Given the description of an element on the screen output the (x, y) to click on. 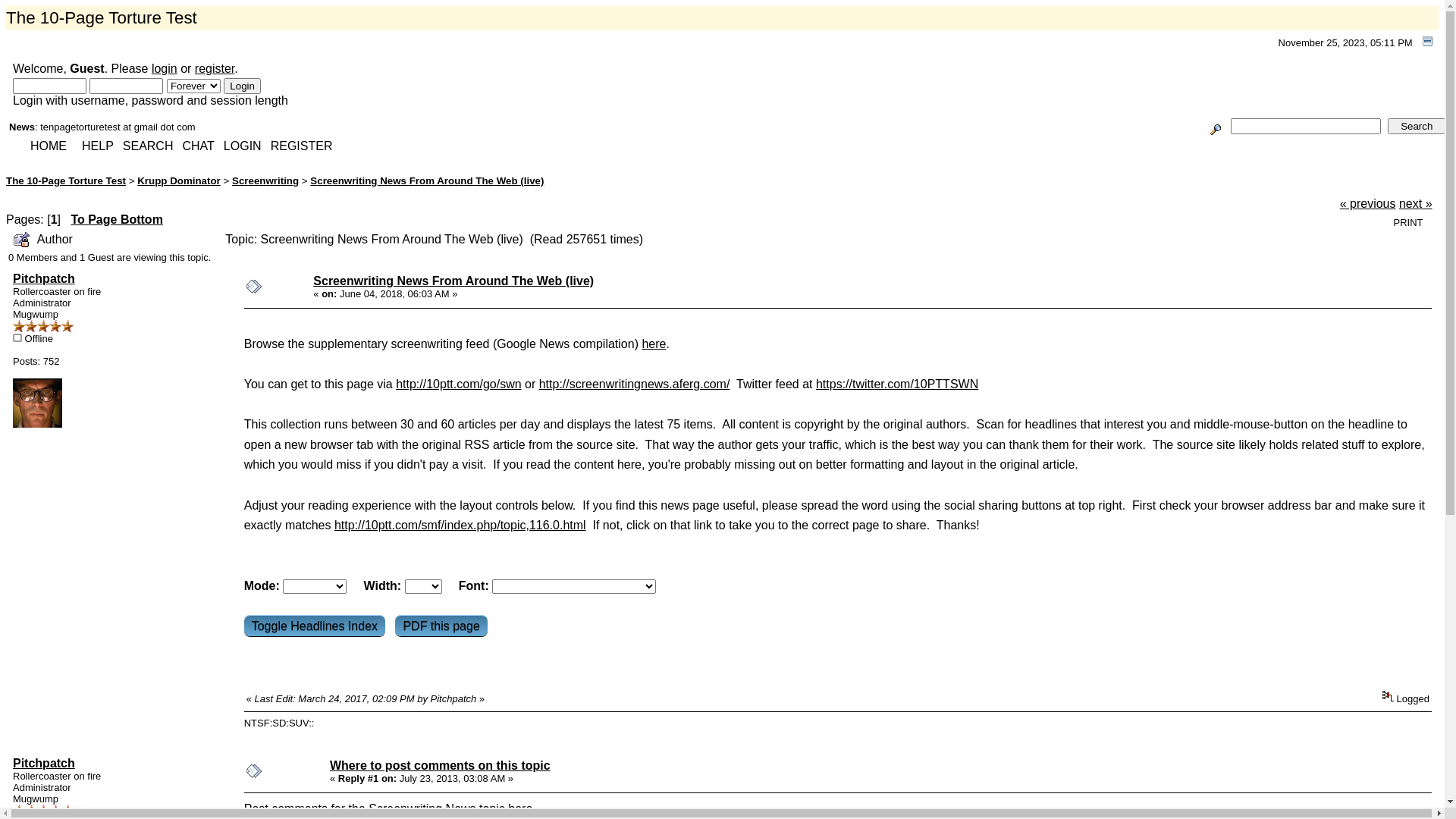
LOGIN Element type: text (242, 145)
Search Element type: text (1416, 126)
http://screenwritingnews.aferg.com/ Element type: text (634, 383)
http://10ptt.com/go/swn Element type: text (457, 383)
Toggle Headlines Index Element type: text (314, 625)
https://twitter.com/10PTTSWN Element type: text (896, 383)
Screenwriting Element type: text (265, 180)
Pitchpatch Element type: text (43, 762)
register Element type: text (214, 68)
PRINT Element type: text (1408, 222)
SEARCH Element type: text (147, 145)
Login Element type: text (241, 86)
here Element type: text (653, 343)
Where to post comments on this topic Element type: text (439, 765)
To Page Bottom Element type: text (116, 219)
here Element type: text (520, 808)
Screenwriting News From Around The Web (live) Element type: text (453, 280)
Pitchpatch Element type: text (43, 278)
PDF this page Element type: text (440, 625)
http://10ptt.com/smf/index.php/topic,116.0.html Element type: text (460, 524)
HOME Element type: text (48, 145)
login Element type: text (164, 68)
Screenwriting News From Around The Web (live) Element type: text (426, 180)
CHAT Element type: text (197, 145)
REGISTER Element type: text (301, 145)
Shrink or expand the header. Element type: hover (1427, 41)
Krupp Dominator Element type: text (178, 180)
HELP Element type: text (97, 145)
The 10-Page Torture Test Element type: text (65, 180)
